Given the description of an element on the screen output the (x, y) to click on. 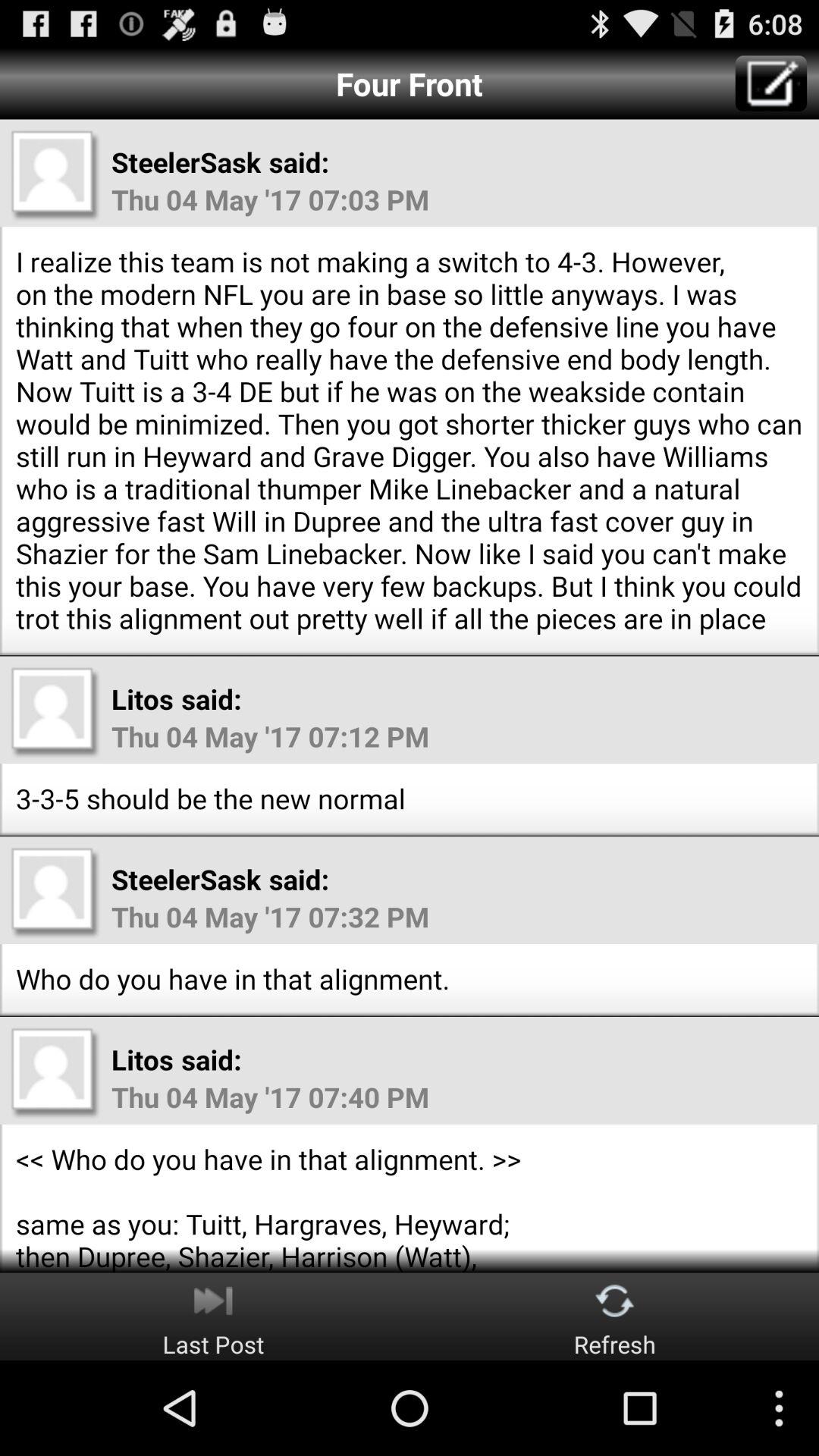
blank profile pic (55, 1072)
